Given the description of an element on the screen output the (x, y) to click on. 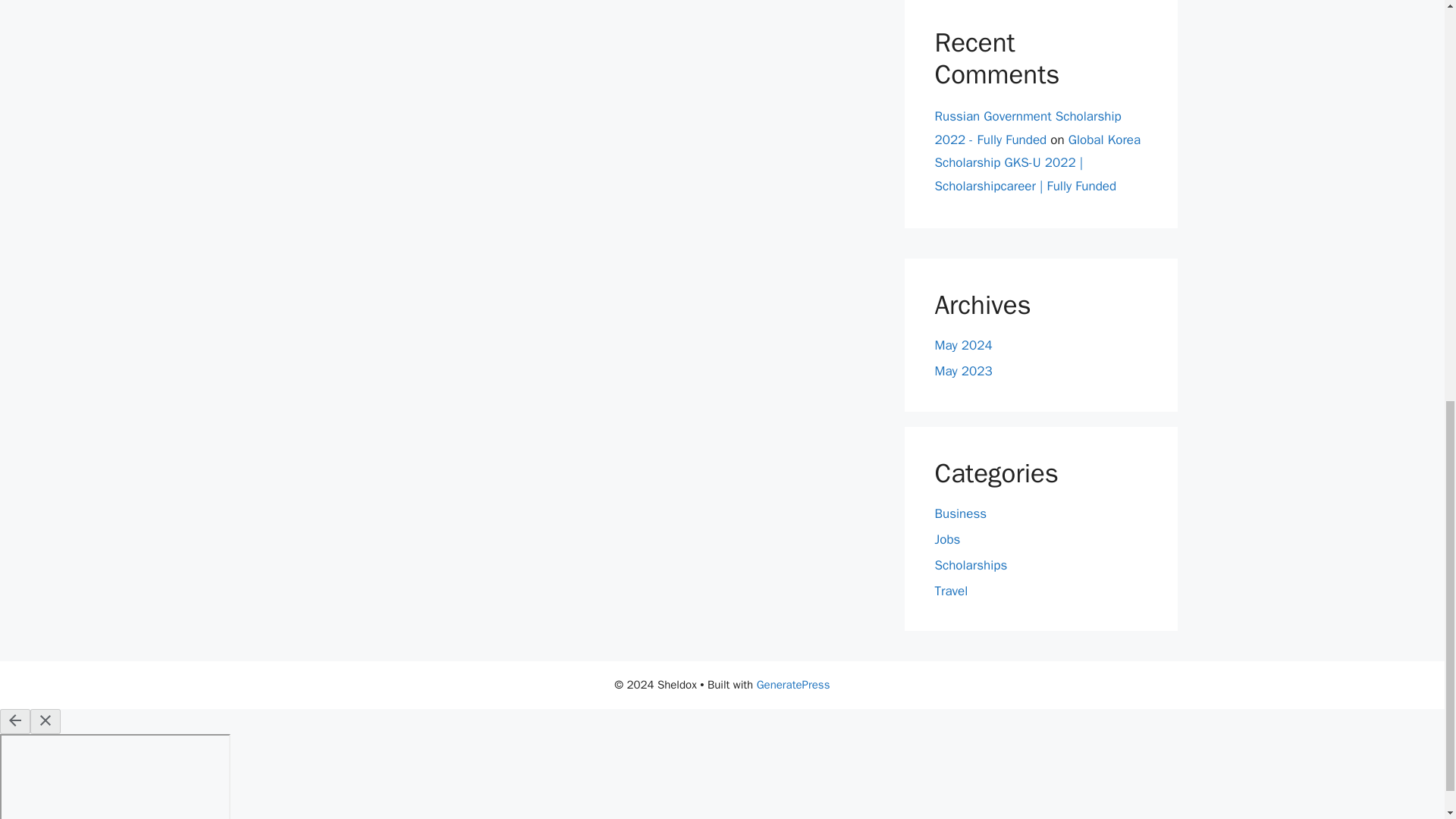
Travel (951, 590)
May 2024 (962, 344)
Russian Government Scholarship 2022 - Fully Funded (1027, 128)
Business (960, 513)
Scholarships (970, 565)
GeneratePress (793, 684)
May 2023 (962, 371)
Jobs (946, 539)
